Given the description of an element on the screen output the (x, y) to click on. 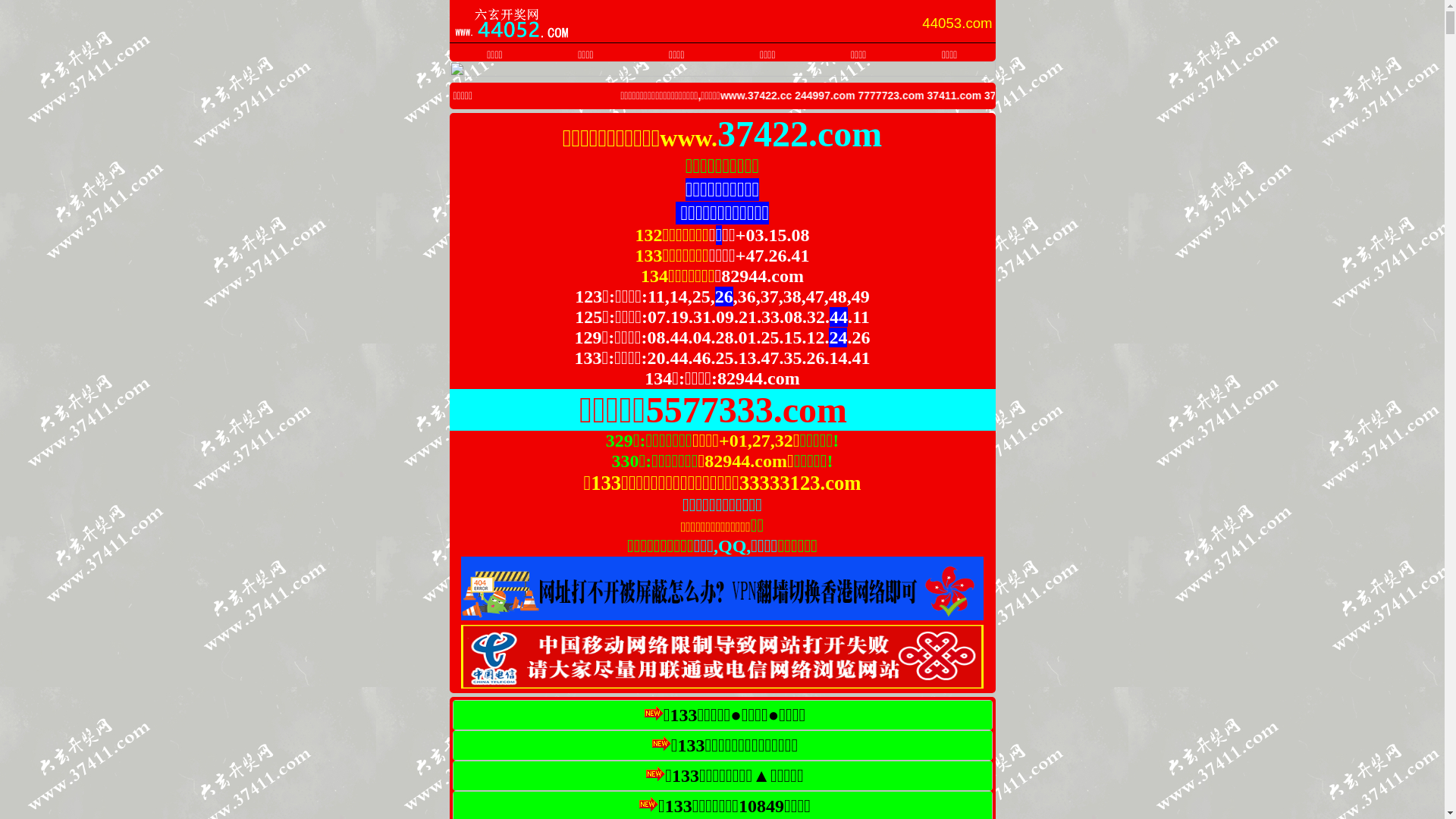
44053.com Element type: text (956, 23)
